Given the description of an element on the screen output the (x, y) to click on. 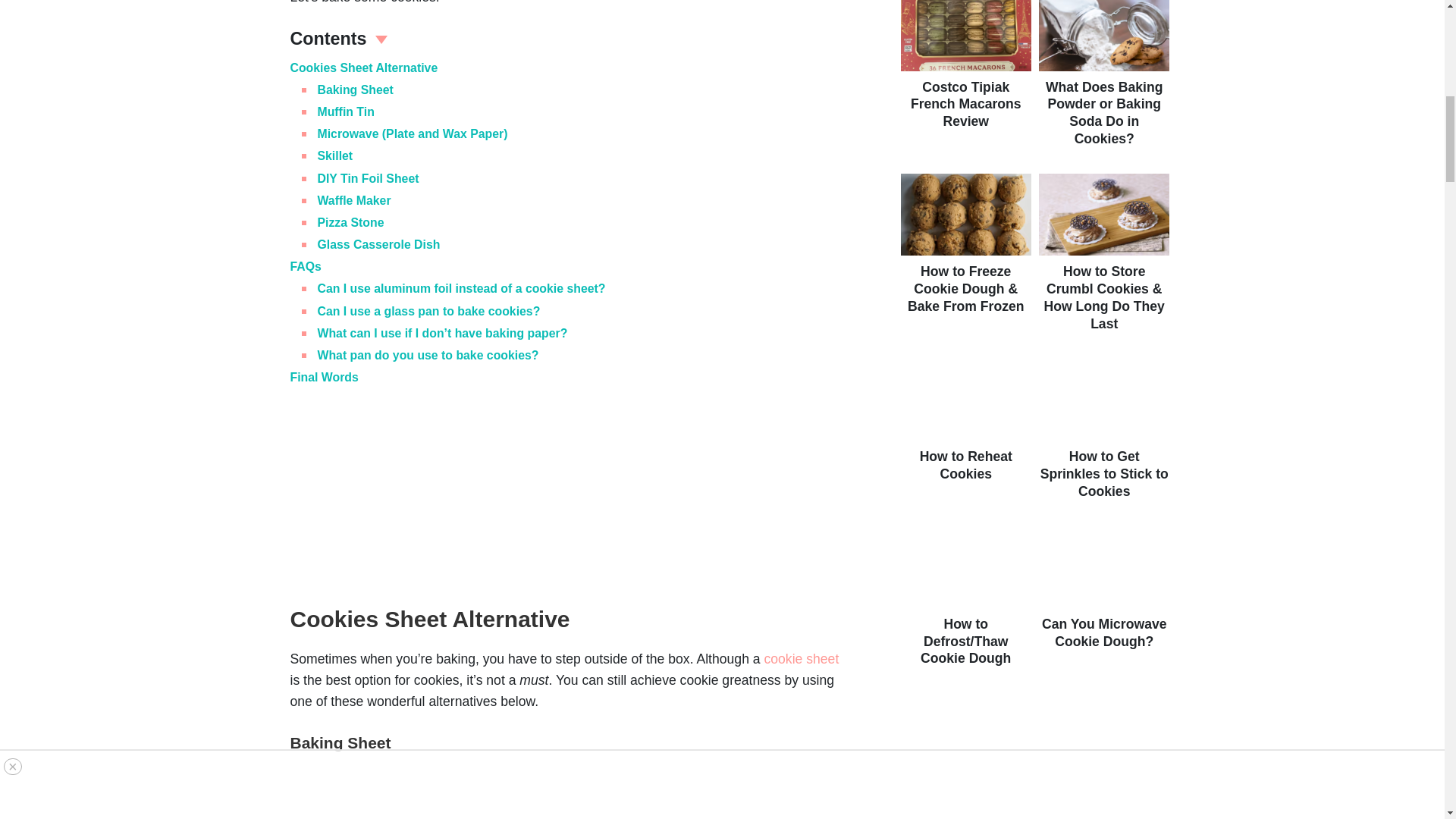
Final Words (323, 377)
Waffle Maker (353, 200)
Skillet (334, 155)
cookie sheet (800, 658)
Muffin Tin (345, 111)
hide (381, 38)
Baking Sheet (355, 89)
Can I use a glass pan to bake cookies? (428, 310)
Can I use aluminum foil instead of a cookie sheet? (461, 287)
Cookies Sheet Alternative (363, 67)
FAQs (304, 266)
Pizza Stone (350, 222)
Glass Casserole Dish (378, 244)
DIY Tin Foil Sheet (368, 178)
What pan do you use to bake cookies? (427, 354)
